Given the description of an element on the screen output the (x, y) to click on. 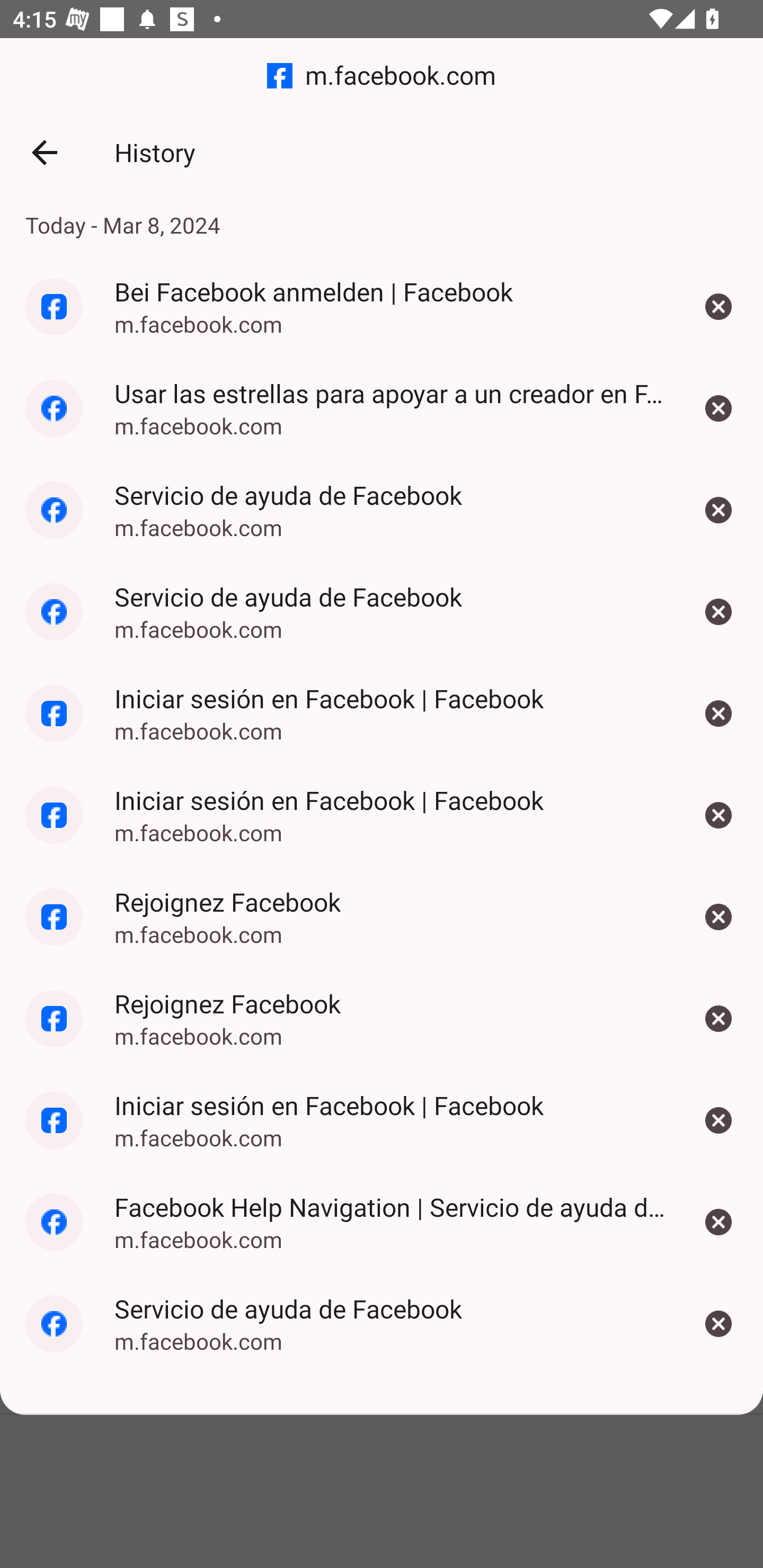
m.facebook.com (381, 75)
Back (44, 152)
Bei Facebook anmelden | Facebook Remove (718, 306)
Servicio de ayuda de Facebook Remove (718, 510)
Servicio de ayuda de Facebook Remove (718, 612)
Iniciar sesión en Facebook | Facebook Remove (718, 714)
Iniciar sesión en Facebook | Facebook Remove (718, 815)
Rejoignez Facebook Remove (718, 916)
Rejoignez Facebook Remove (718, 1018)
Iniciar sesión en Facebook | Facebook Remove (718, 1120)
Servicio de ayuda de Facebook Remove (718, 1324)
